Given the description of an element on the screen output the (x, y) to click on. 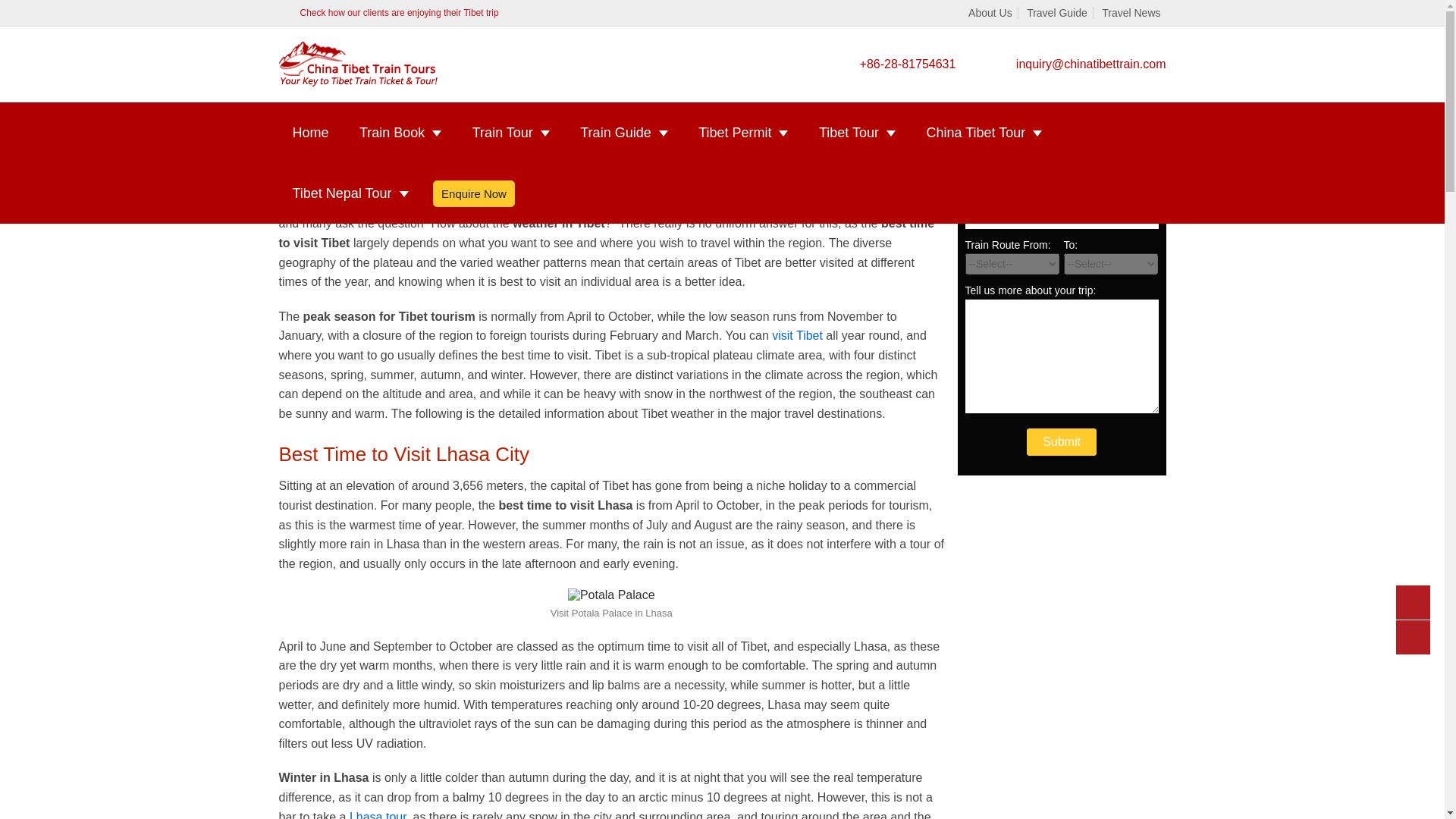
Potala Palace (611, 594)
